Given the description of an element on the screen output the (x, y) to click on. 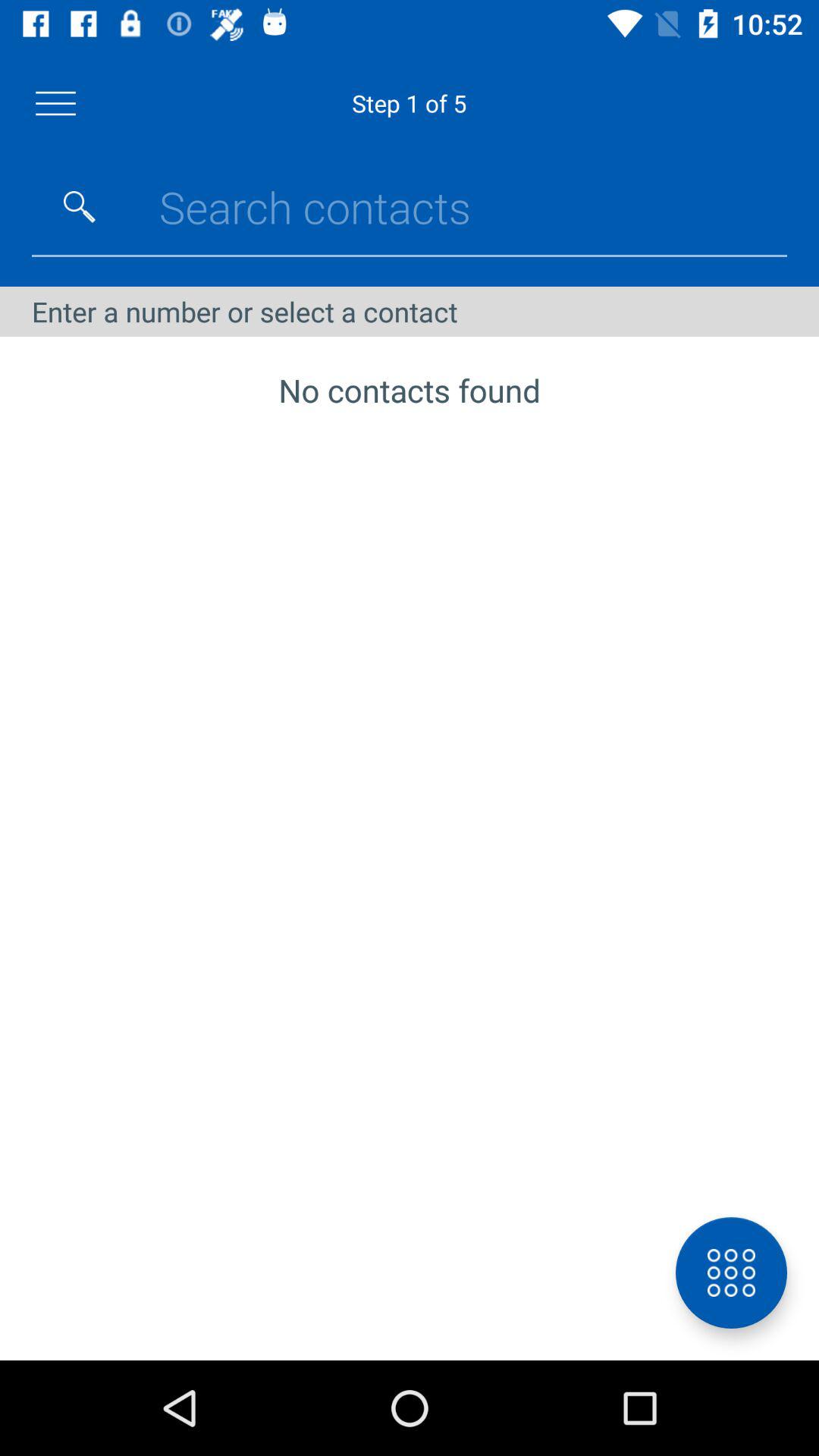
go to menu (55, 103)
